Given the description of an element on the screen output the (x, y) to click on. 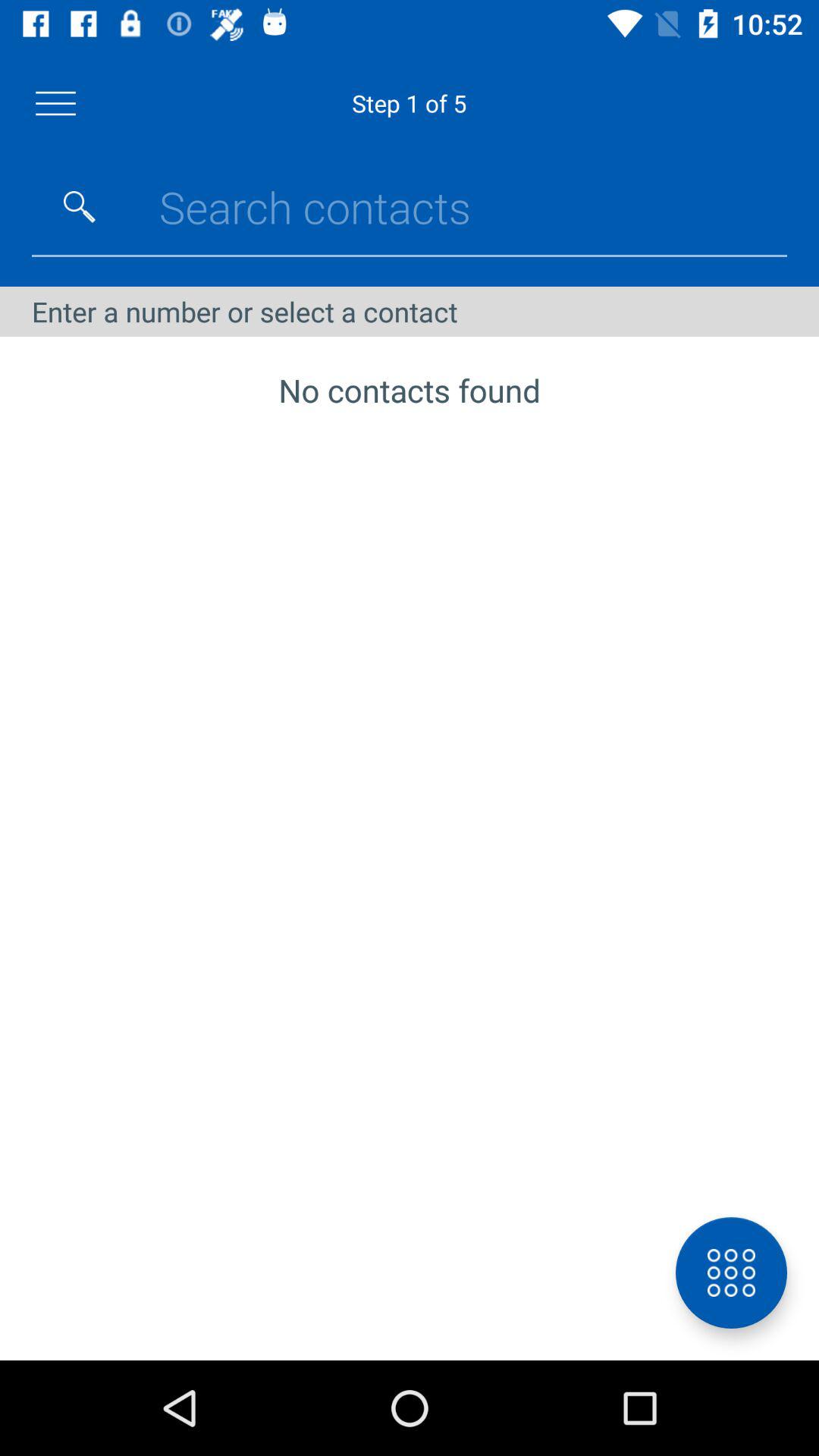
go to menu (55, 103)
